Given the description of an element on the screen output the (x, y) to click on. 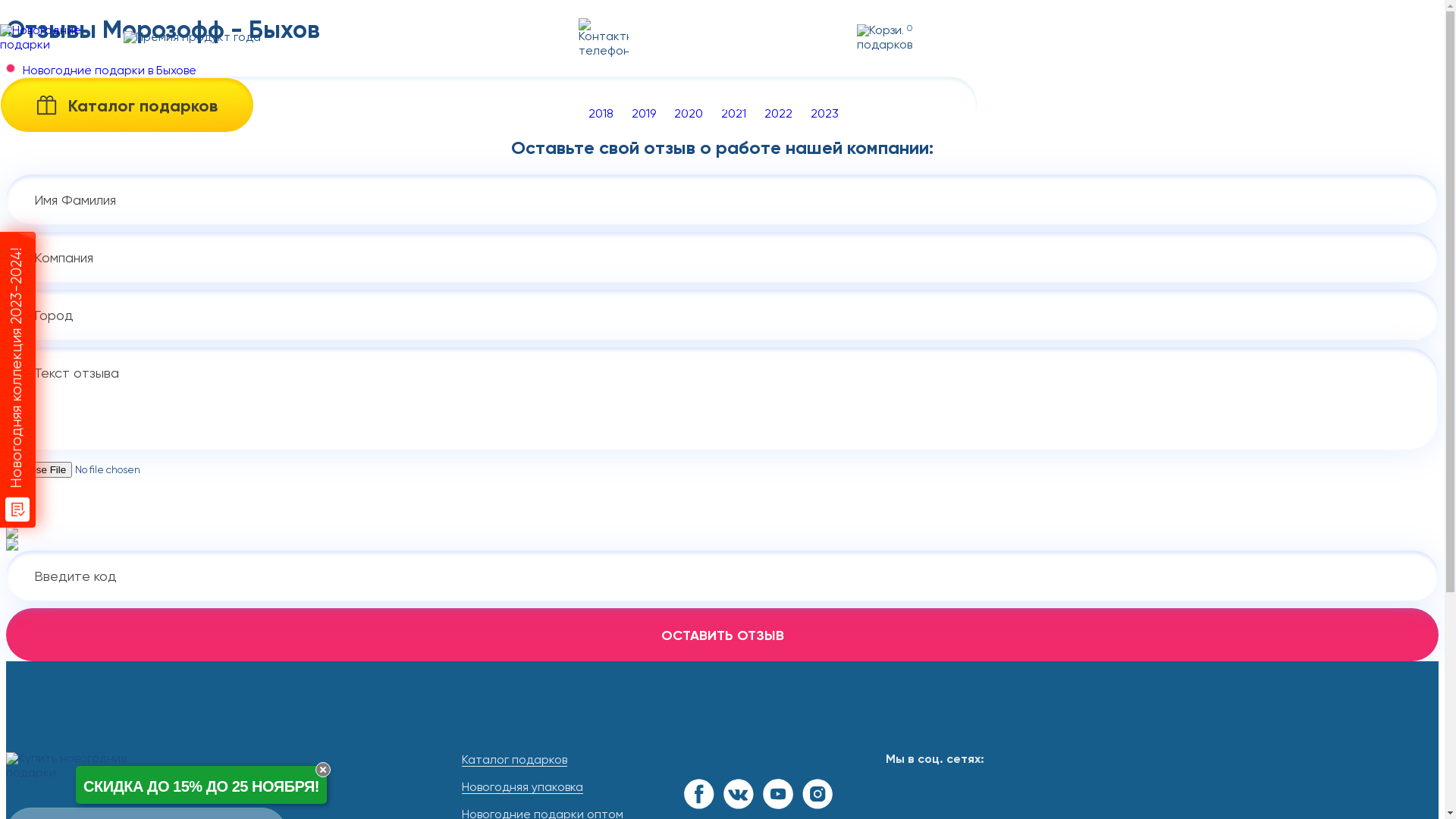
2018 Element type: text (600, 114)
2023 Element type: text (823, 114)
2020 Element type: text (687, 114)
2019 Element type: text (642, 114)
2021 Element type: text (732, 114)
+375 (29) 650-99-44 Element type: text (722, 52)
2022 Element type: text (778, 114)
+375 (17) 366-46-44 Element type: text (722, 23)
